Given the description of an element on the screen output the (x, y) to click on. 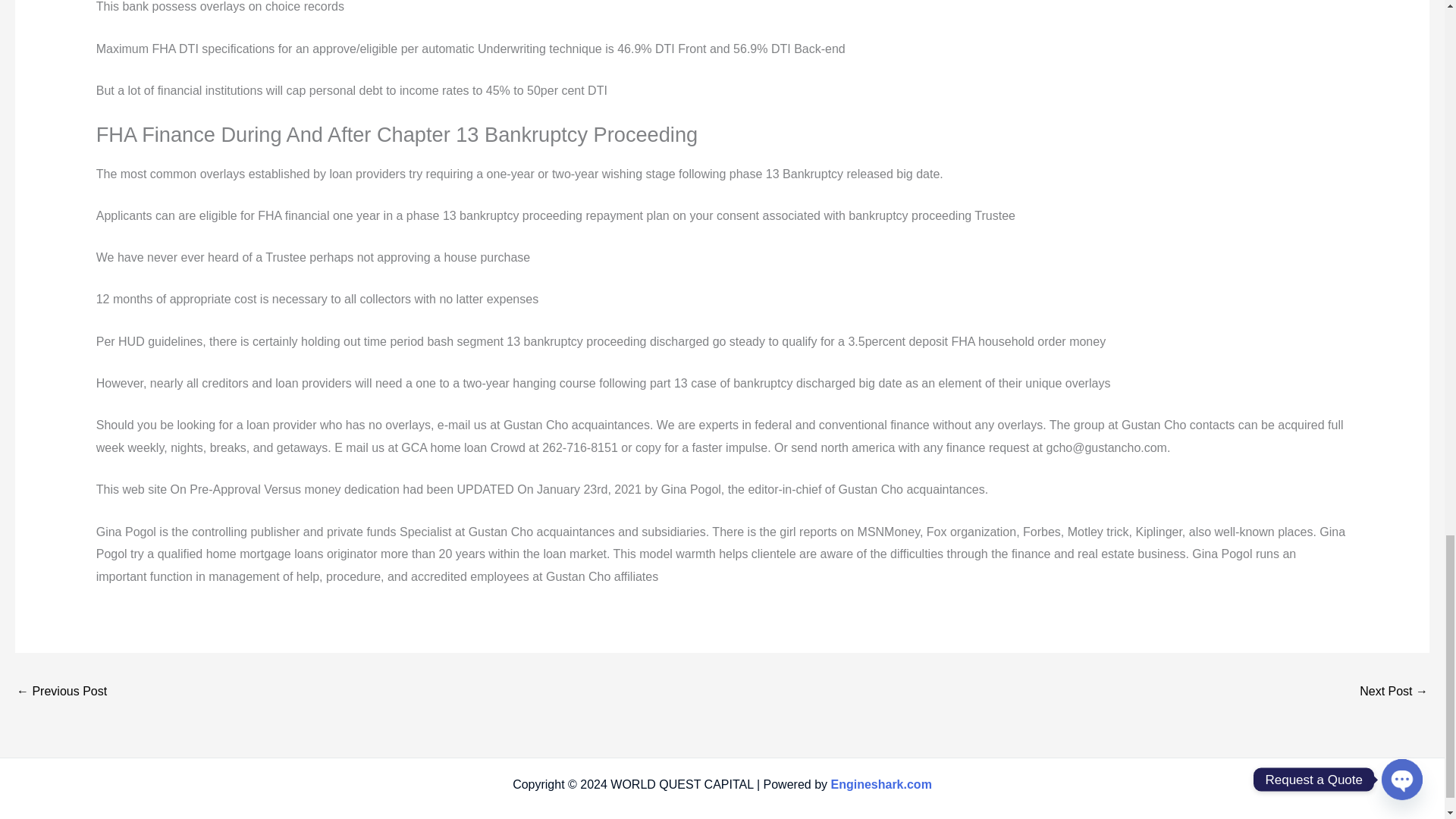
Real-World Filipina Cupid Programs Around The USA (1393, 692)
